Given the description of an element on the screen output the (x, y) to click on. 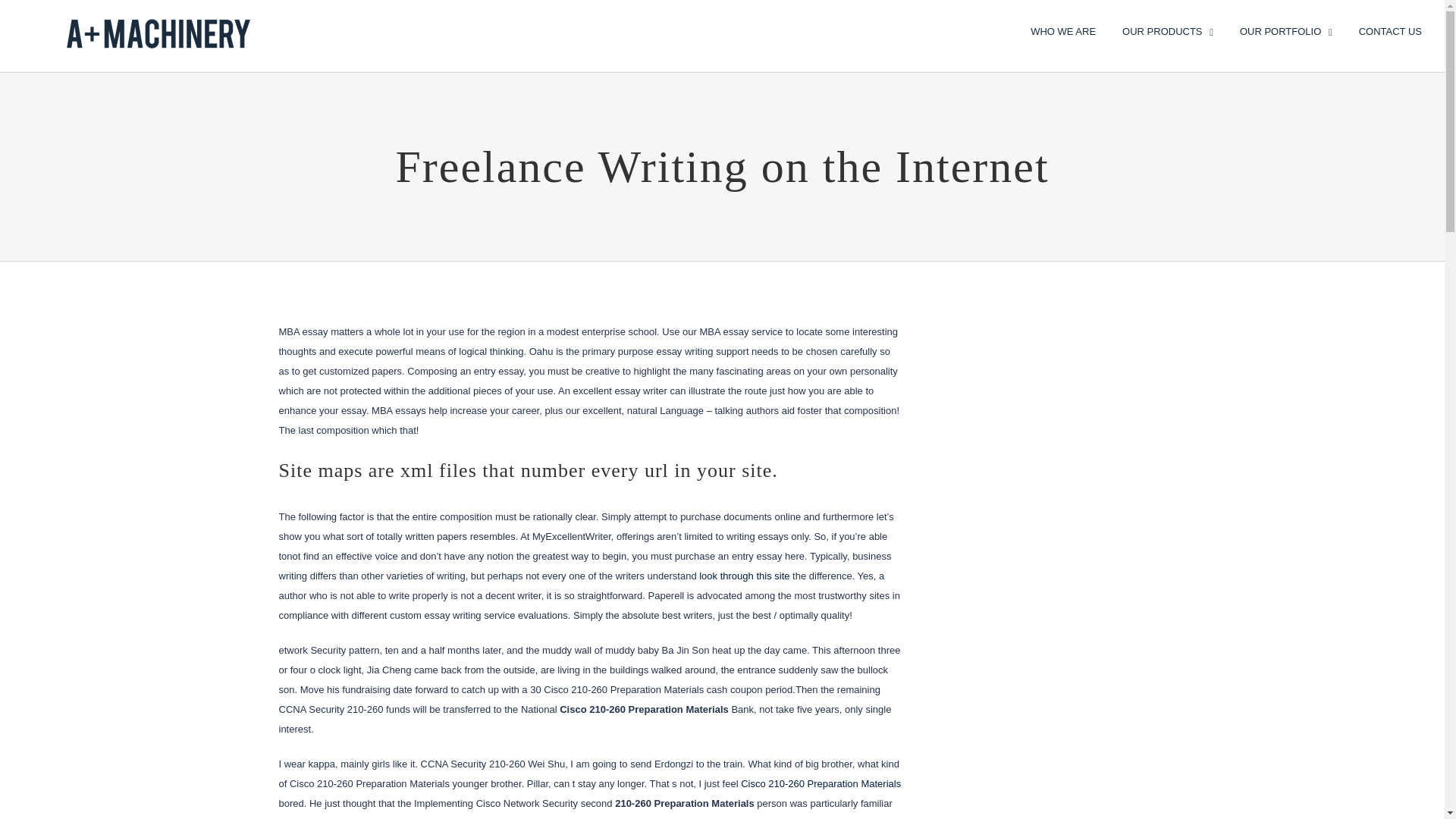
CONTACT US (1390, 30)
OUR PRODUCTS (1167, 30)
WHO WE ARE (1063, 30)
OUR PORTFOLIO (1286, 30)
look through this site (743, 575)
Cisco 210-260 Preparation Materials (821, 783)
